Given the description of an element on the screen output the (x, y) to click on. 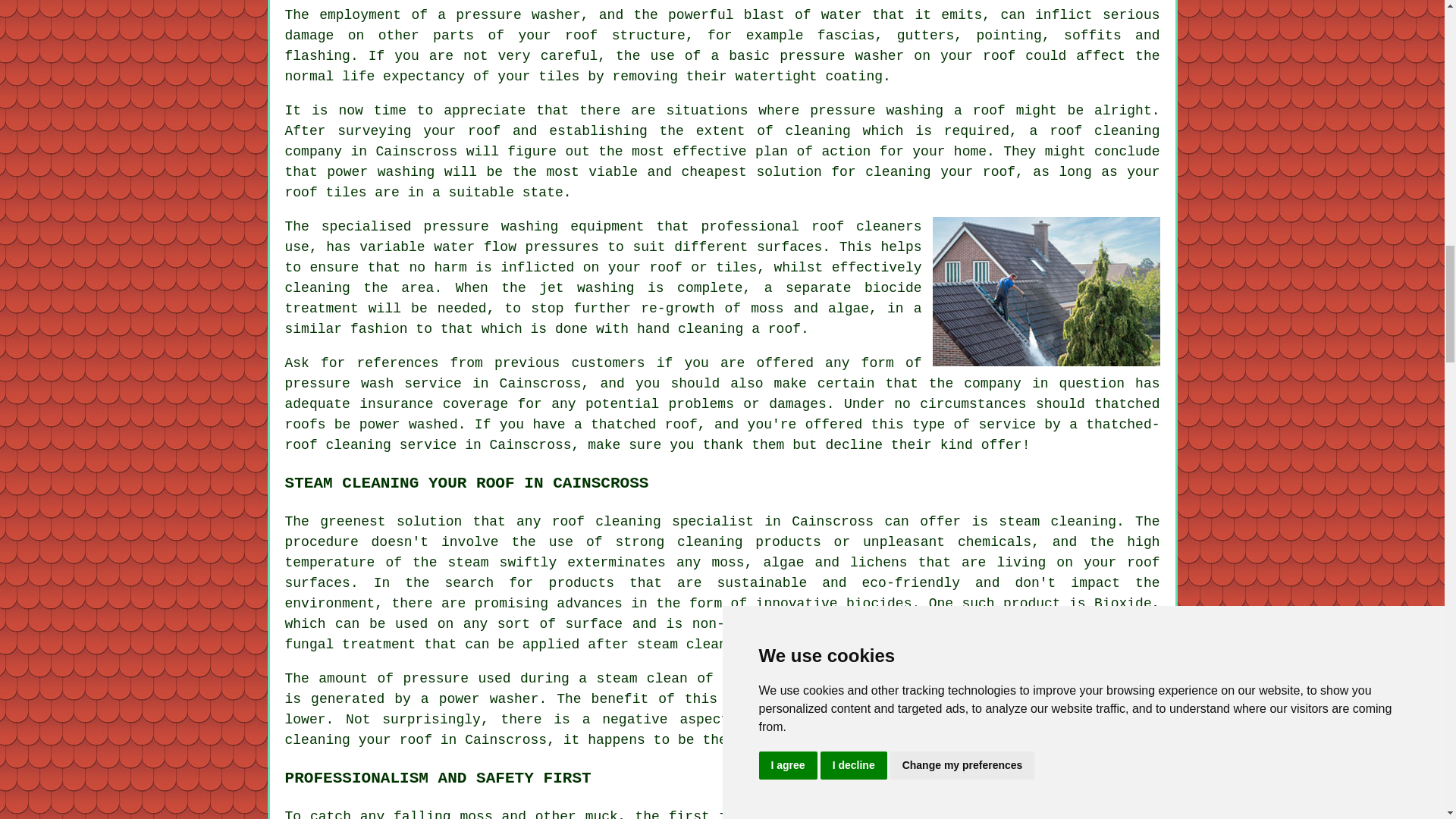
roof (568, 521)
Roof Cleaning Near Cainscross (1046, 291)
